Given the description of an element on the screen output the (x, y) to click on. 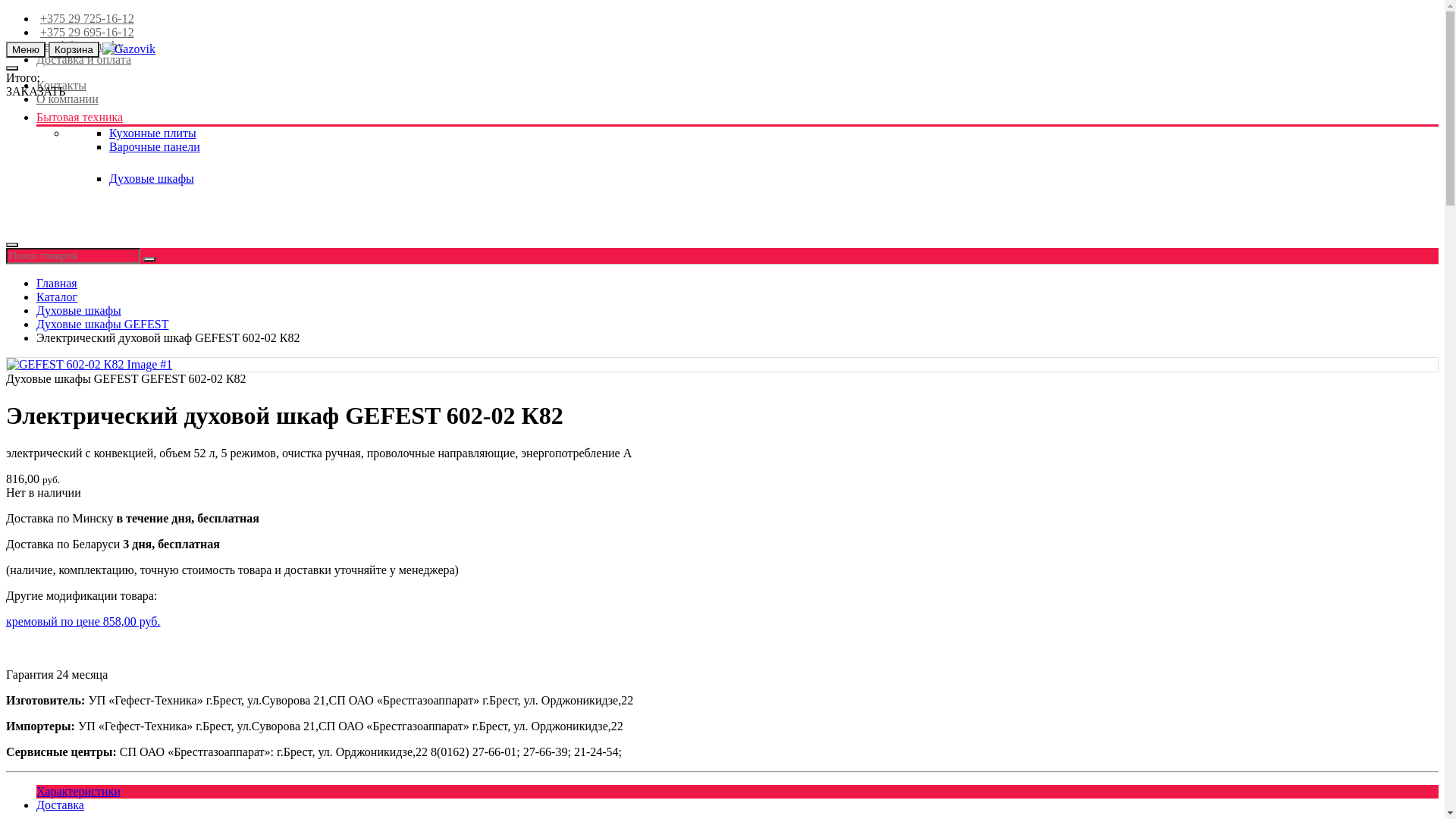
+375 29 725-16-12 Element type: text (85, 18)
+375 29 695-16-12 Element type: text (85, 31)
